Given the description of an element on the screen output the (x, y) to click on. 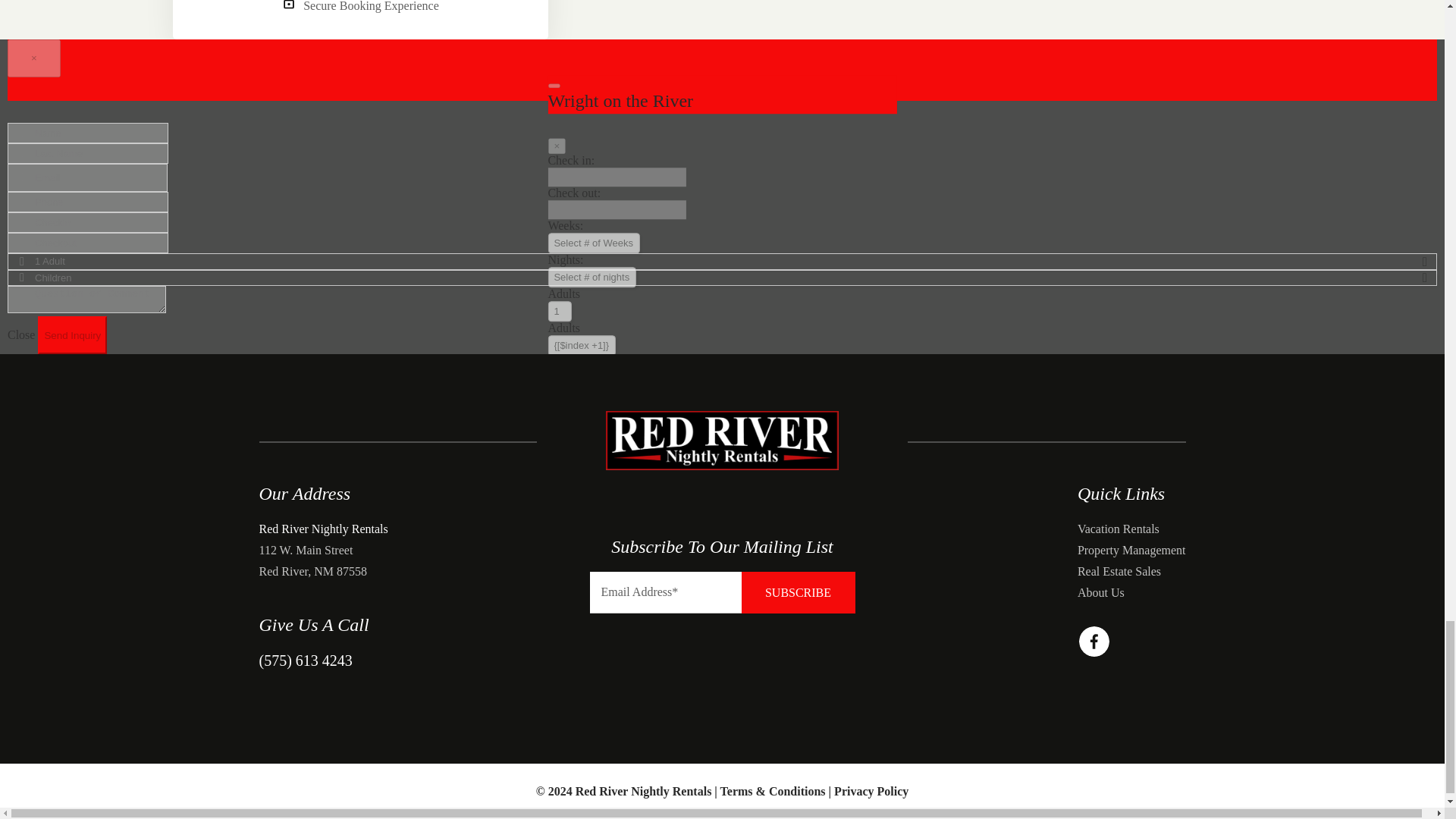
Subscribe (798, 592)
Close (22, 334)
